Given the description of an element on the screen output the (x, y) to click on. 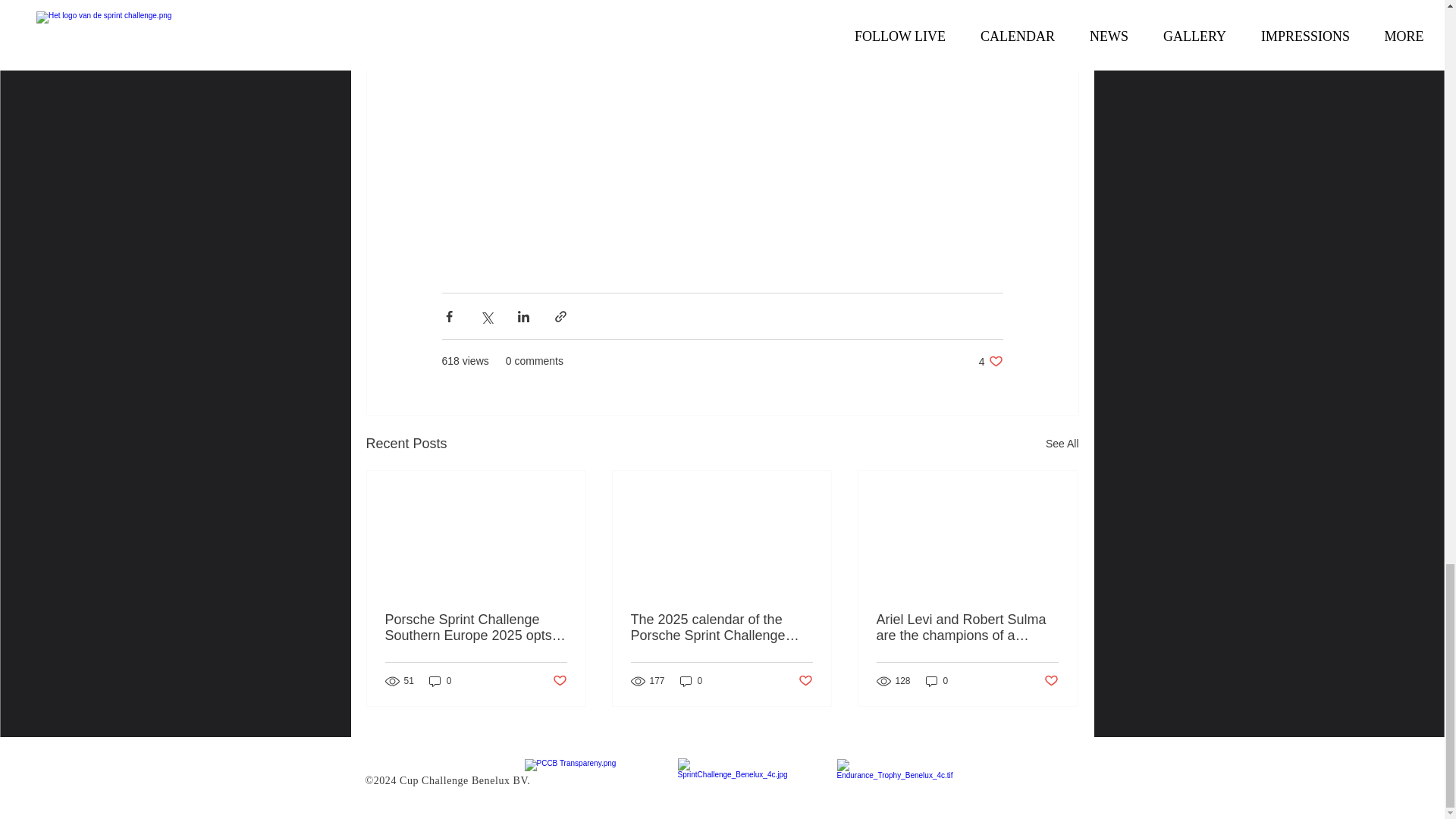
0 (440, 681)
Post not marked as liked (990, 360)
See All (804, 680)
0 (1061, 444)
Post not marked as liked (691, 681)
